Given the description of an element on the screen output the (x, y) to click on. 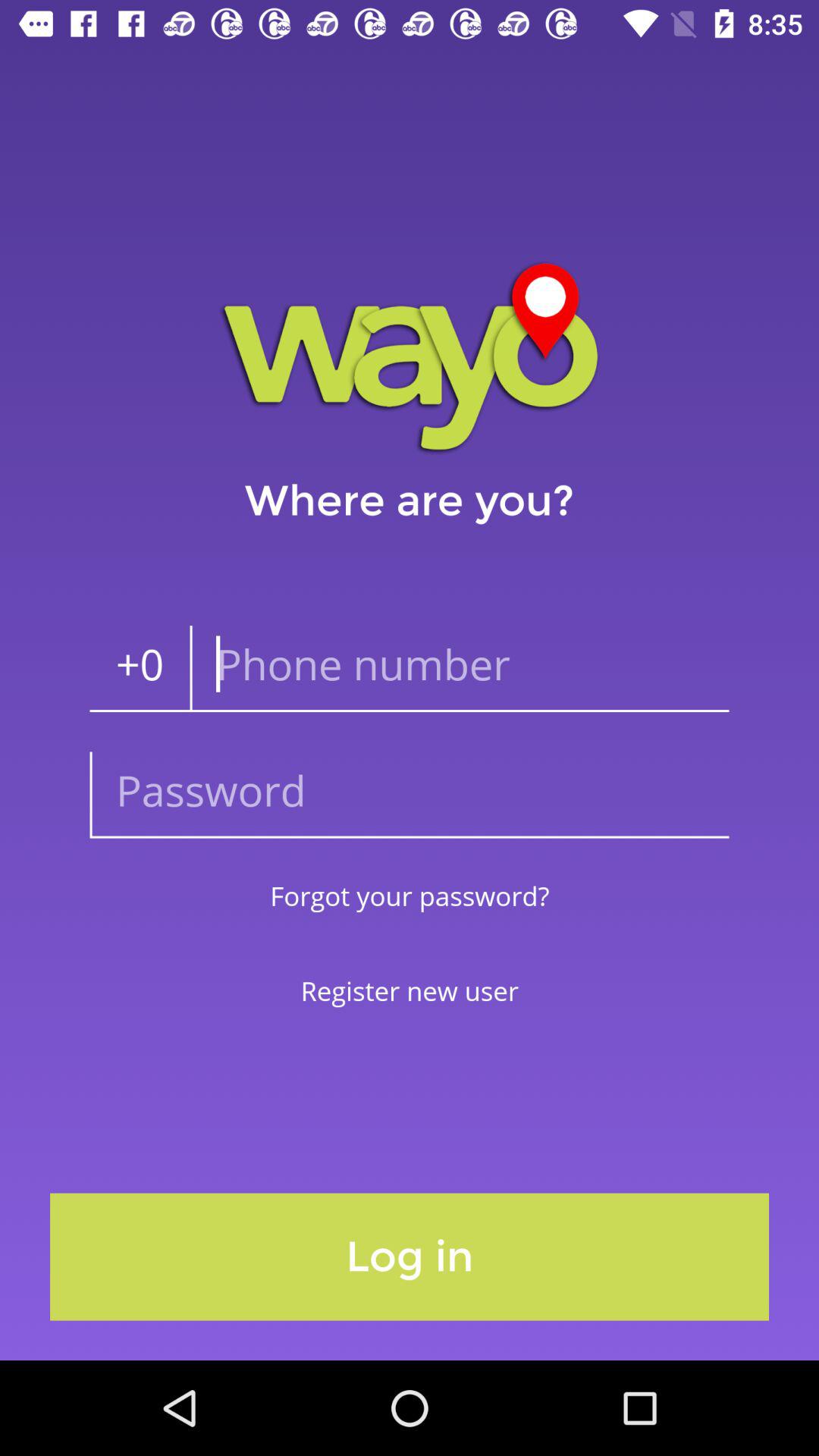
jump to forgot your password? item (409, 895)
